Given the description of an element on the screen output the (x, y) to click on. 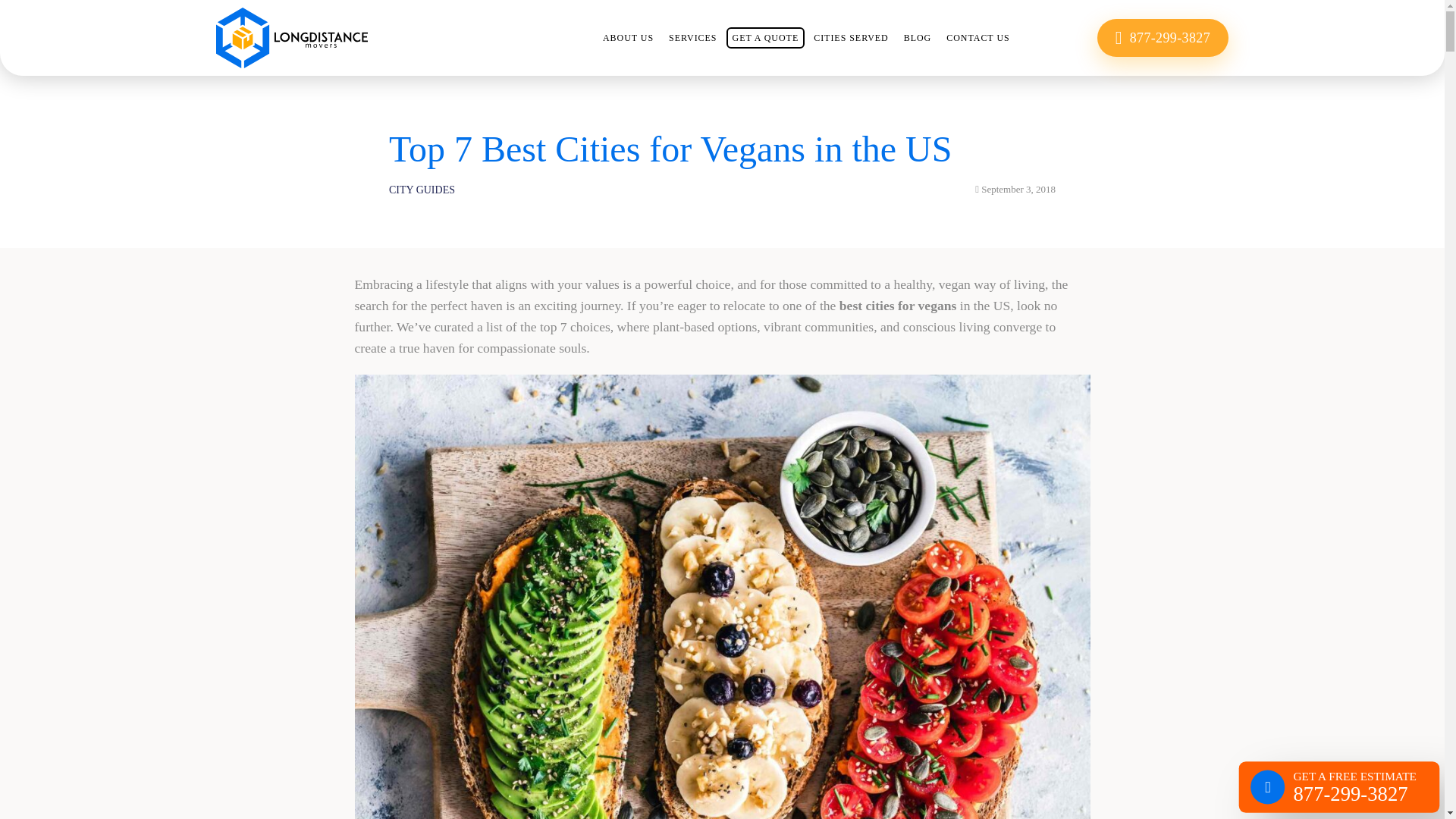
CONTACT US (977, 37)
ABOUT US (627, 37)
CITY GUIDES (421, 189)
GET A QUOTE (765, 37)
CITIES SERVED (851, 37)
BLOG (917, 37)
SERVICES (692, 37)
877-299-3827 (1162, 37)
